Given the description of an element on the screen output the (x, y) to click on. 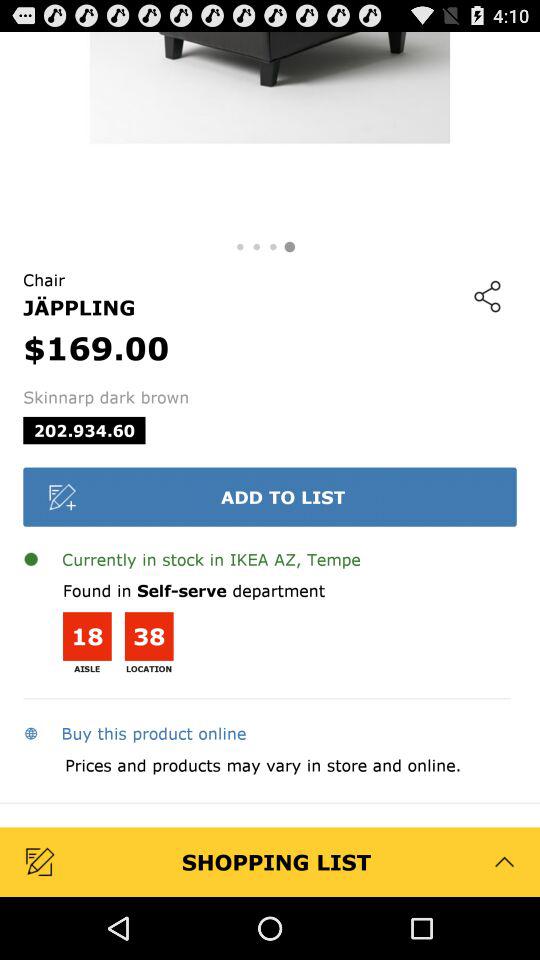
product picture (270, 132)
